Given the description of an element on the screen output the (x, y) to click on. 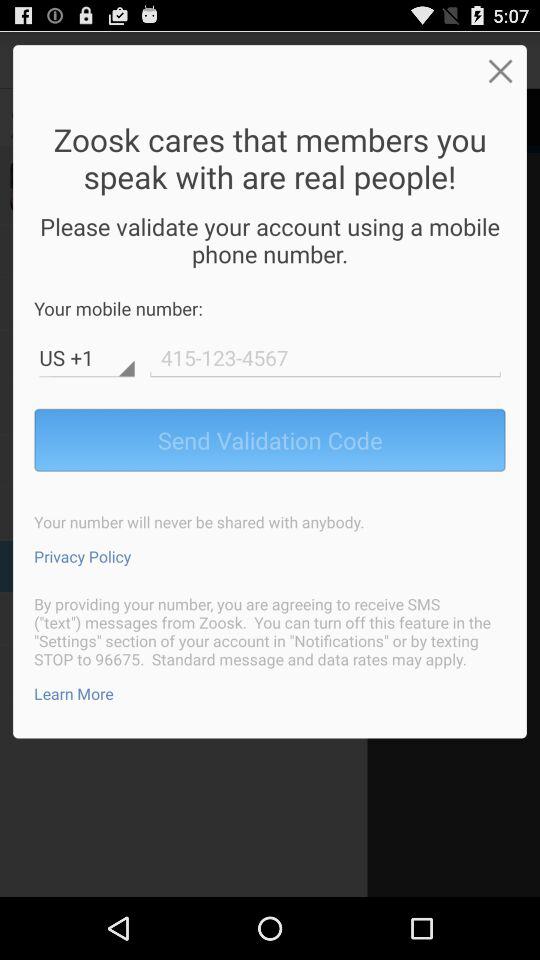
zoosk date connect find your best match (325, 357)
